Given the description of an element on the screen output the (x, y) to click on. 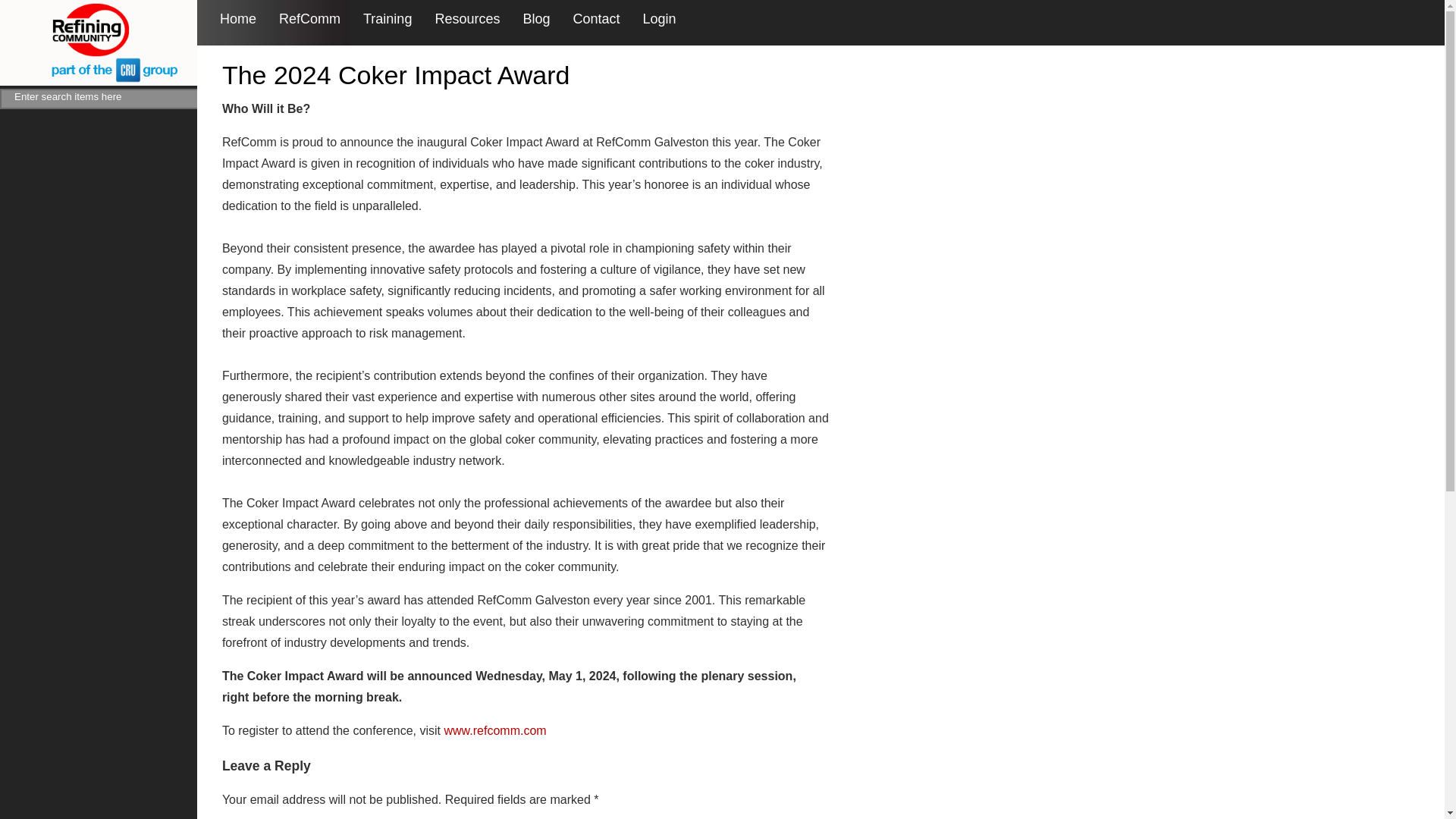
Contact (596, 19)
Login (660, 19)
Search (217, 98)
RefComm (309, 19)
www.refcomm.com (495, 730)
Resources (466, 19)
Home (237, 19)
Blog (536, 19)
Training (387, 19)
